Given the description of an element on the screen output the (x, y) to click on. 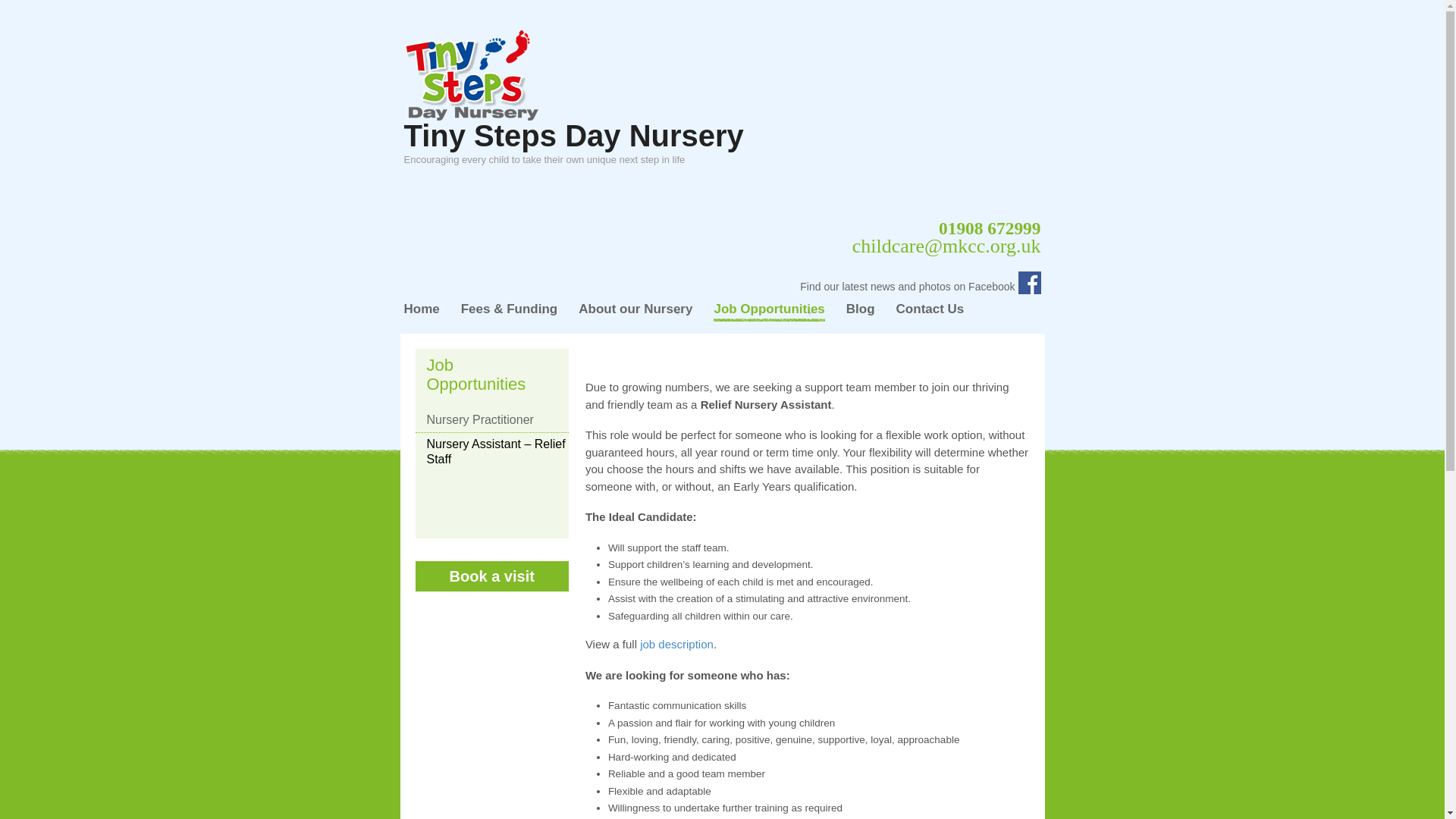
job description (676, 644)
Blog (860, 311)
Home (421, 311)
Job Opportunities (768, 311)
About our Nursery (635, 311)
Contact Us (929, 311)
Book a visit (491, 576)
Tiny Steps Day Nursery (572, 135)
Nursery Practitioner (491, 422)
